Given the description of an element on the screen output the (x, y) to click on. 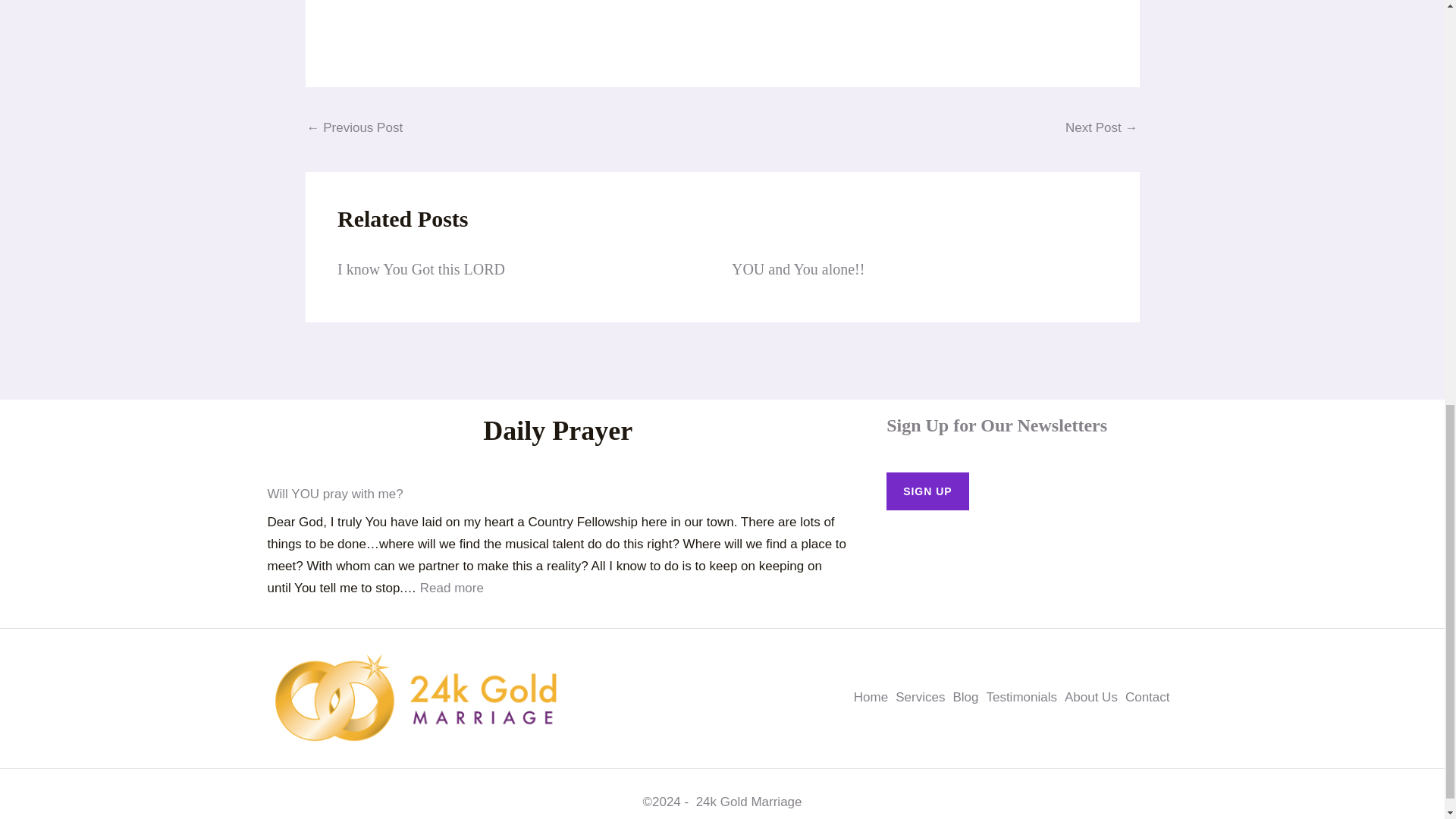
Staying in love after the new wears off (1101, 129)
I earnestly want to please You! (354, 129)
I know You Got this LORD (421, 269)
